Given the description of an element on the screen output the (x, y) to click on. 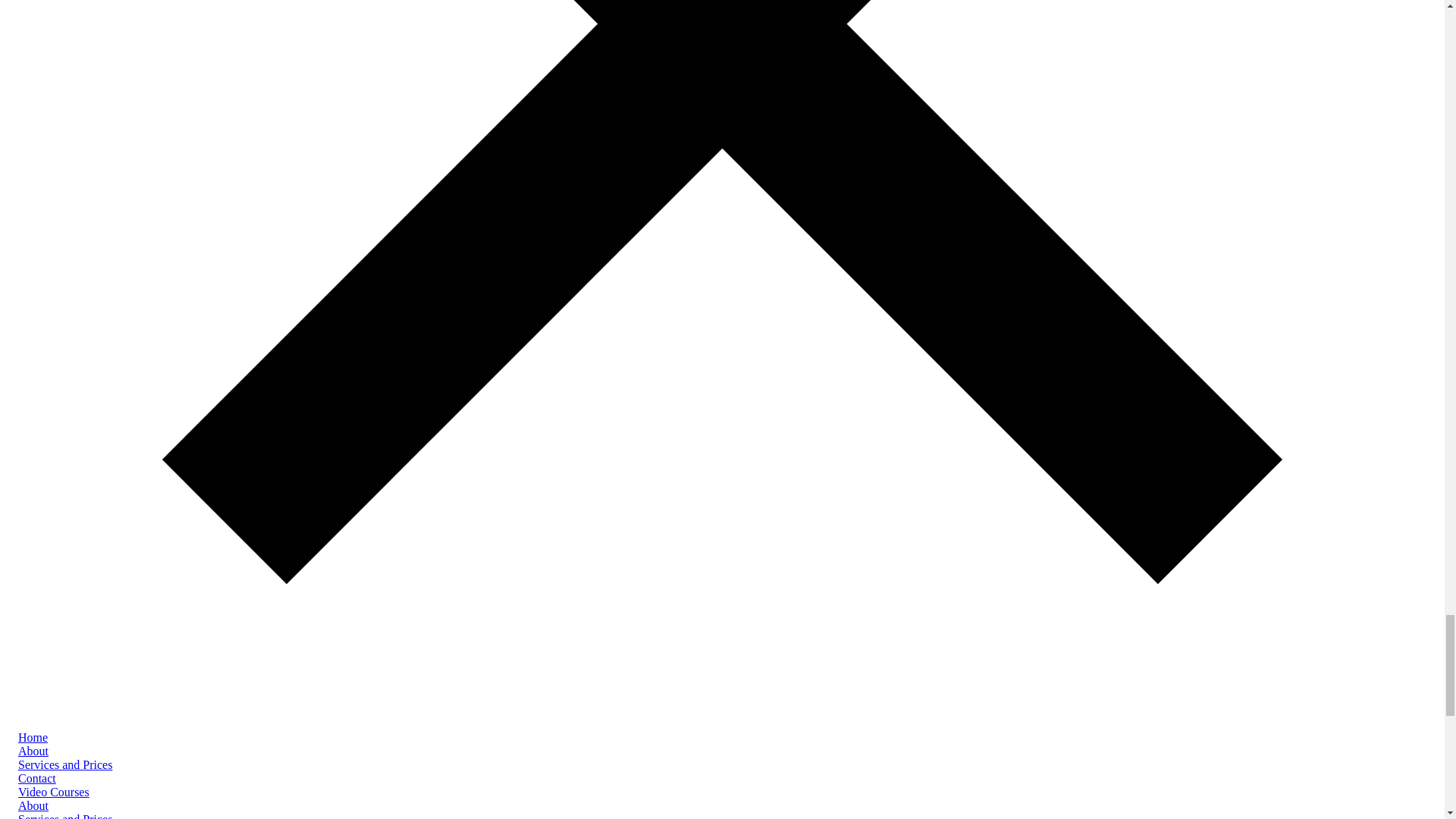
Contact (36, 778)
Services and Prices (64, 816)
Home (32, 737)
Services and Prices (64, 764)
About (32, 750)
Video Courses (52, 791)
About (32, 805)
